Given the description of an element on the screen output the (x, y) to click on. 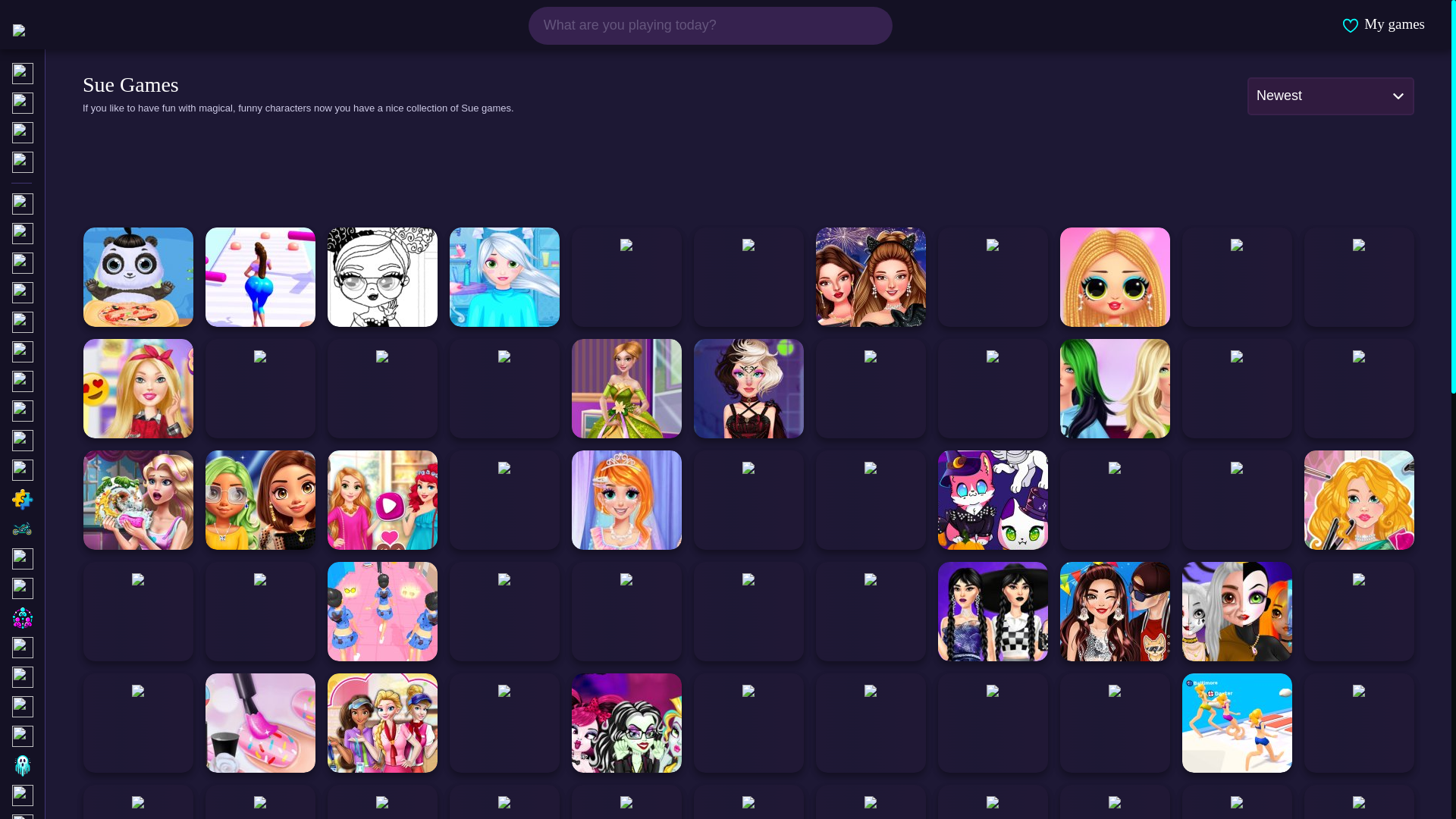
Motorbike (84, 529)
Multiplayer (84, 617)
My games (1383, 24)
Soccer (84, 706)
Dress Up (84, 351)
Adventure (84, 321)
Cooking (84, 558)
Minecraft (84, 470)
Random (84, 162)
Action (84, 263)
Two Player (84, 292)
Escape (84, 795)
Girl (84, 203)
Shooting (84, 411)
Tractor (84, 647)
